Given the description of an element on the screen output the (x, y) to click on. 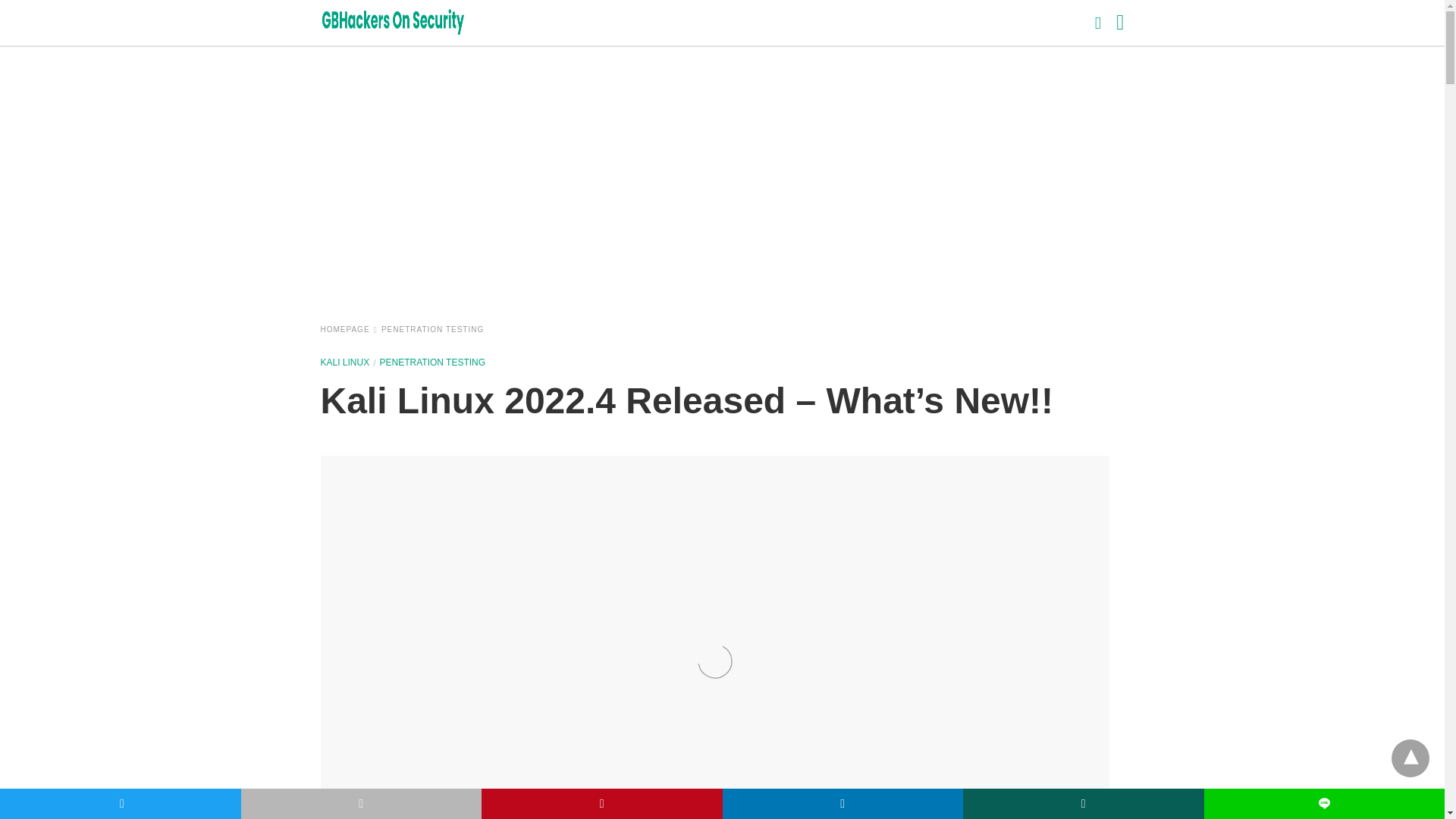
KALI LINUX (344, 362)
PENETRATION TESTING (432, 329)
Kali Linux (344, 362)
PENETRATION TESTING (433, 362)
Homepage (348, 329)
HOMEPAGE (348, 329)
Penetration Testing (432, 329)
Penetration Testing (433, 362)
